Given the description of an element on the screen output the (x, y) to click on. 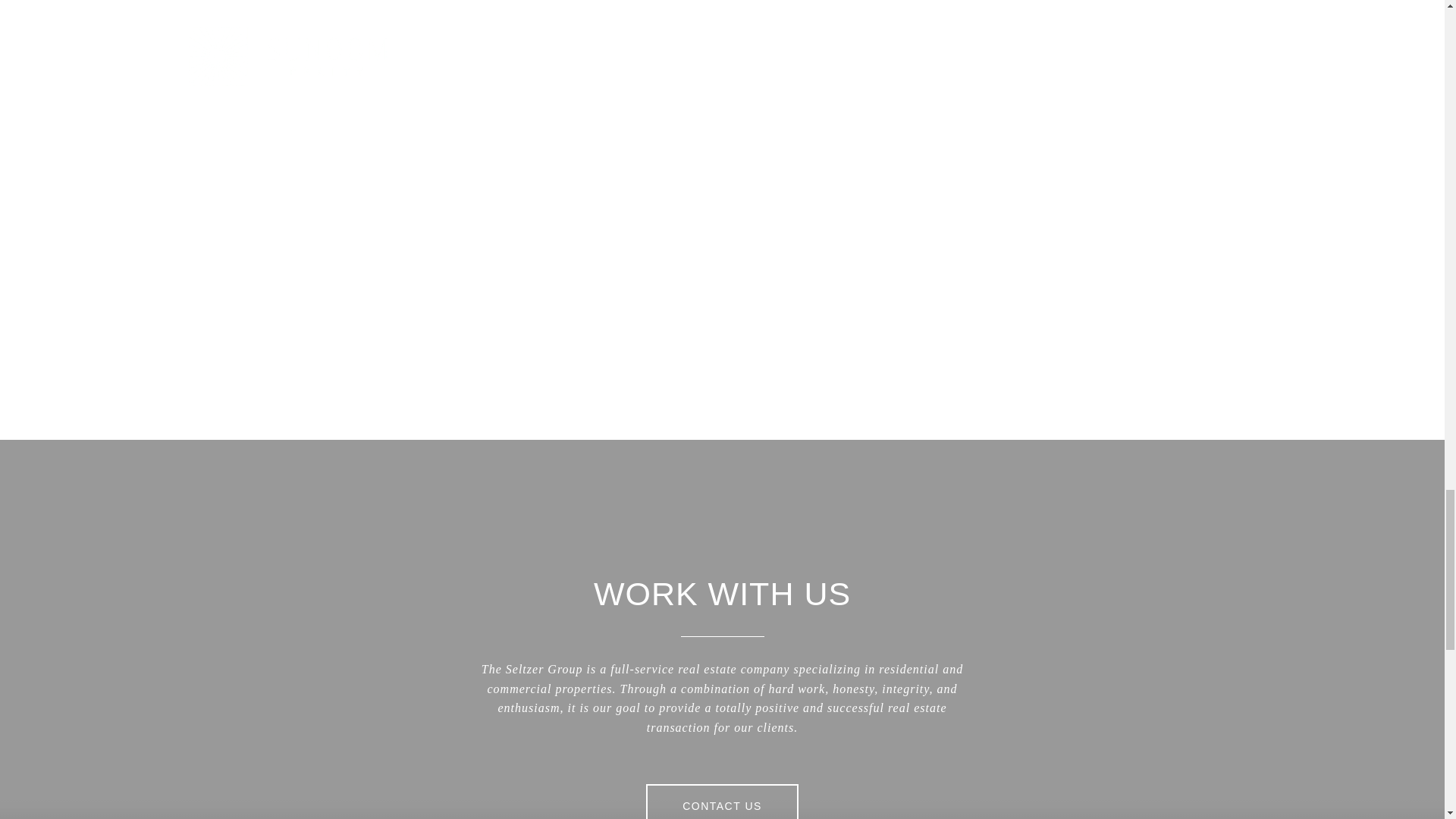
CONTACT US (721, 801)
